Given the description of an element on the screen output the (x, y) to click on. 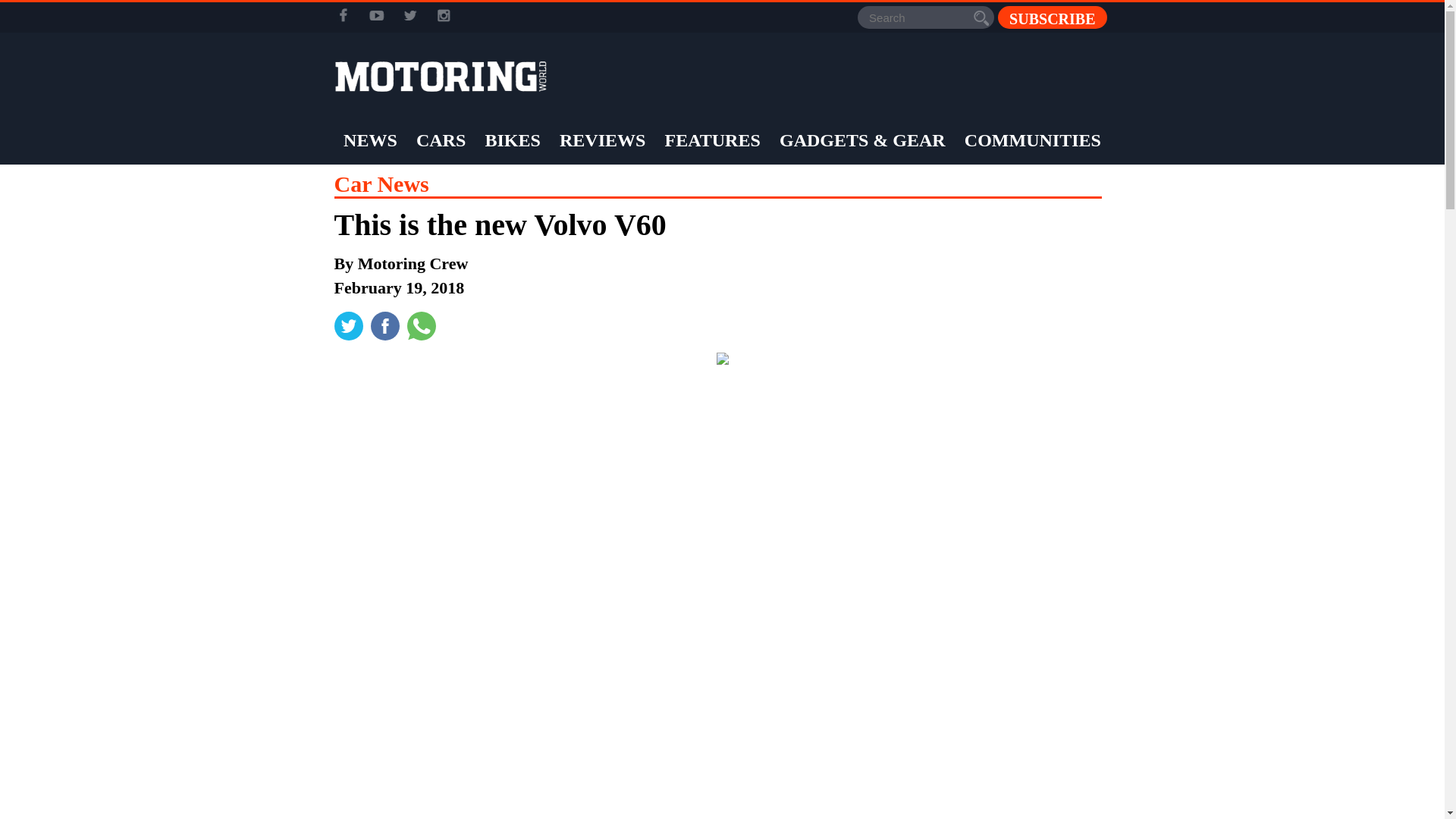
REVIEWS (602, 140)
NEWS (370, 140)
Posts by Motoring Crew (413, 262)
SUBSCRIBE (1051, 16)
BIKES (511, 140)
Car News (380, 183)
FEATURES (712, 140)
COMMUNITIES (1032, 140)
Motoring Crew (413, 262)
CARS (440, 140)
